Given the description of an element on the screen output the (x, y) to click on. 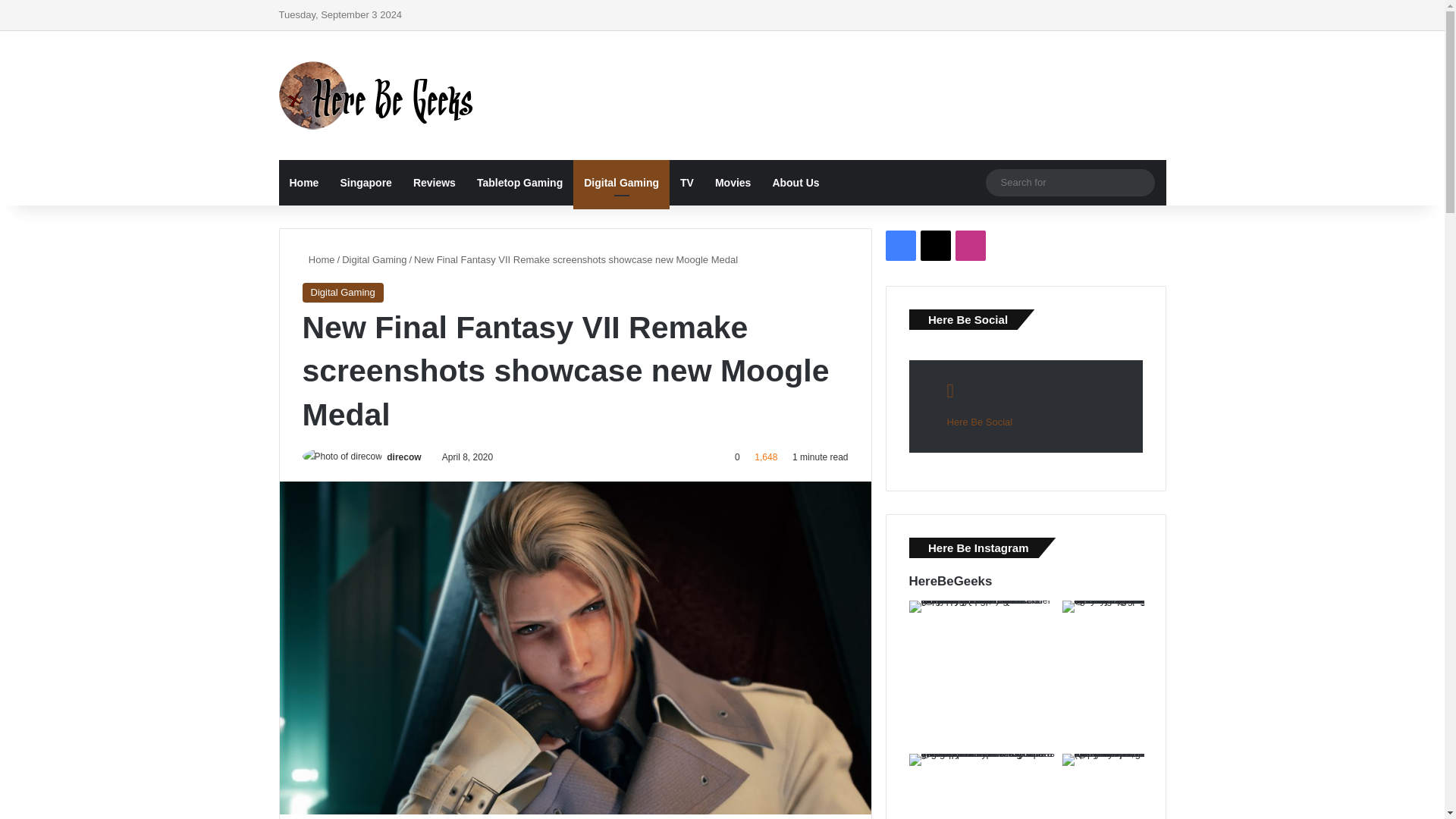
Digital Gaming (341, 292)
Movies (732, 182)
Reviews (434, 182)
Home (304, 182)
Digital Gaming (621, 182)
Tabletop Gaming (519, 182)
Search for (1069, 181)
direcow (403, 457)
Digital Gaming (374, 259)
Home (317, 259)
